Given the description of an element on the screen output the (x, y) to click on. 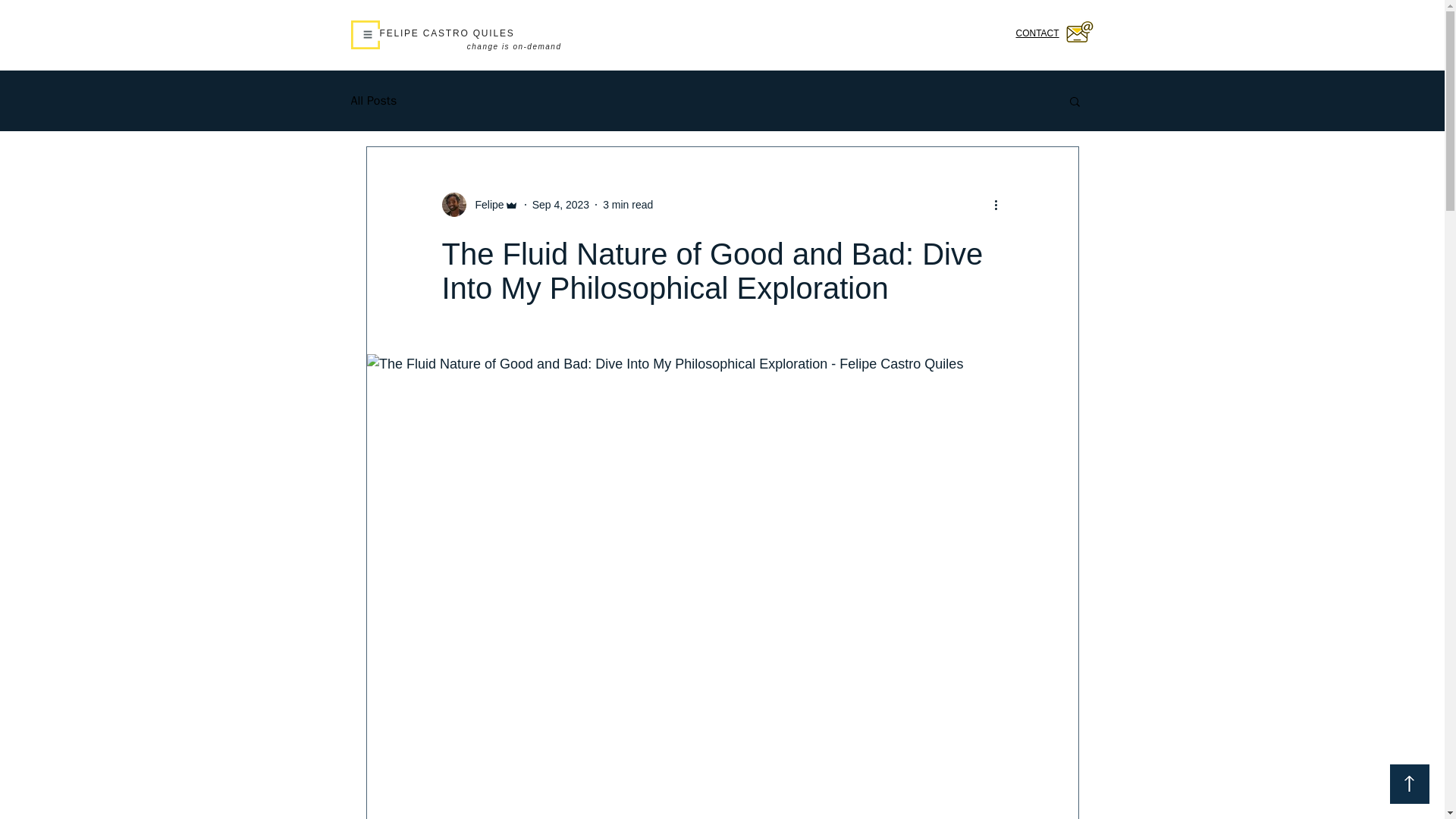
change is on-demand (514, 46)
Felipe (484, 204)
3 min read (627, 204)
Sep 4, 2023 (560, 204)
Felipe (479, 204)
CONTACT (1037, 32)
FELIPE CASTRO QUILES (445, 32)
All Posts (373, 100)
